Given the description of an element on the screen output the (x, y) to click on. 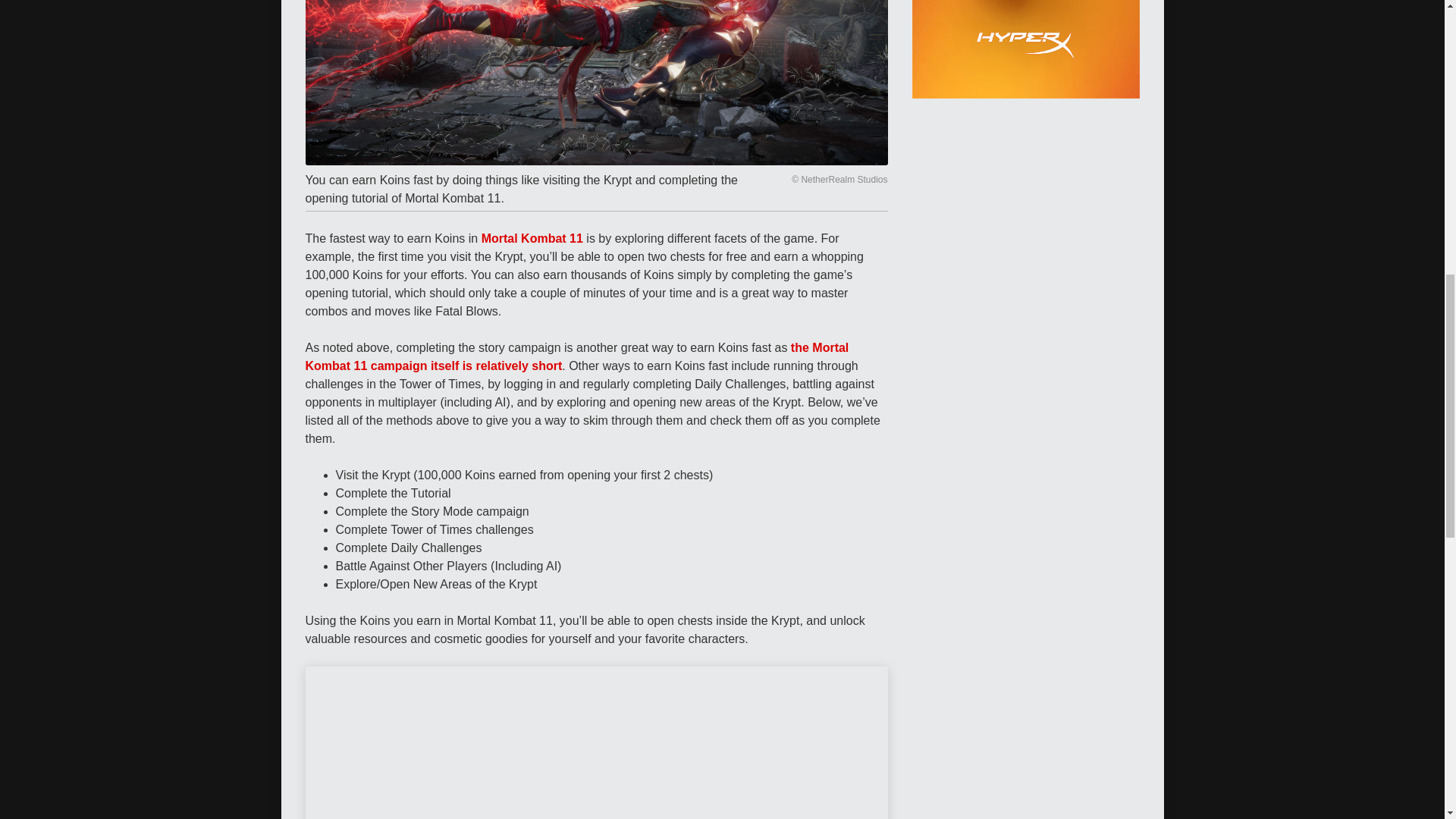
Mortal Kombat 11 (532, 237)
the Mortal Kombat 11 campaign itself is relatively short (576, 356)
